Given the description of an element on the screen output the (x, y) to click on. 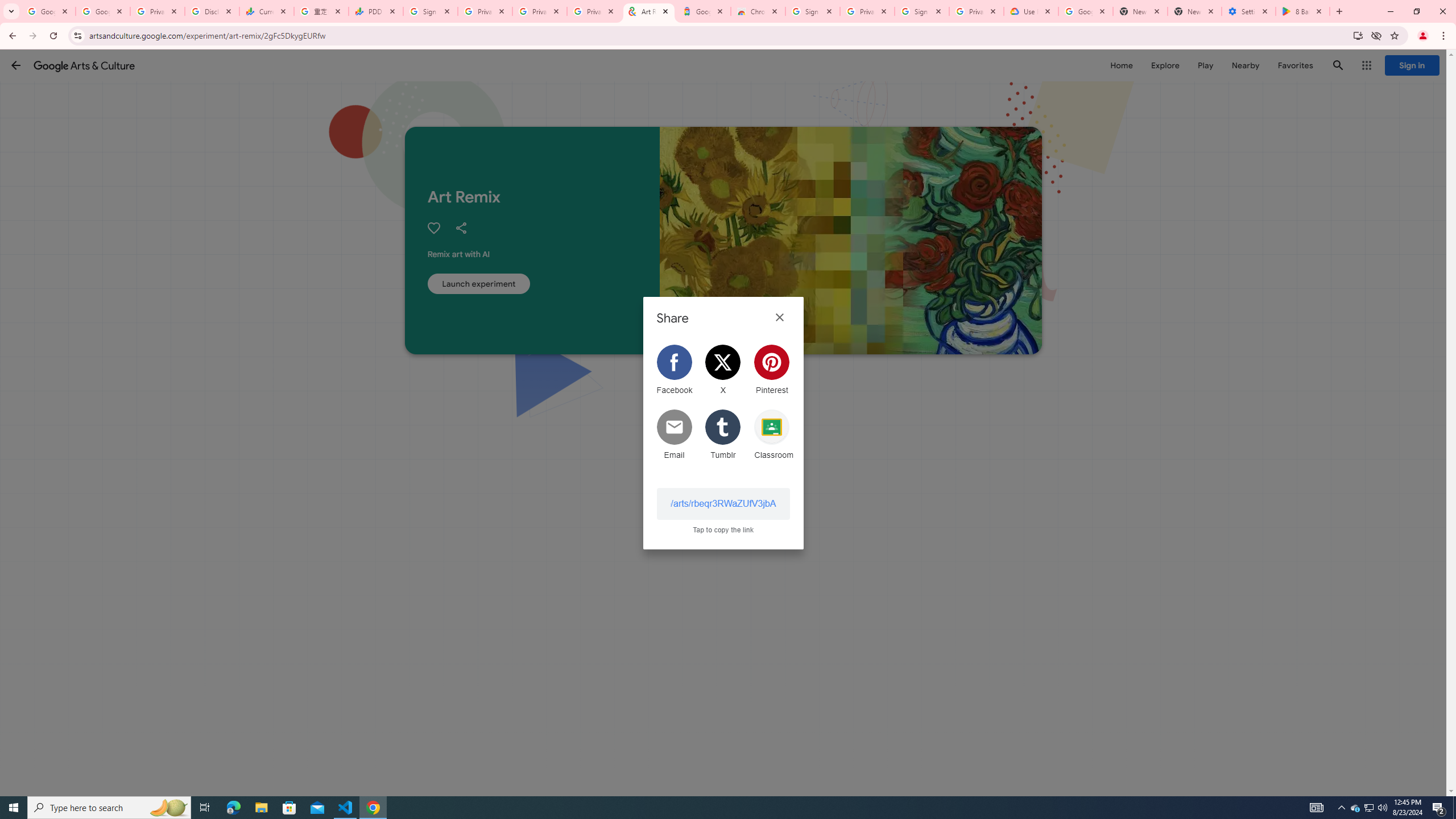
8 Ball Pool - Apps on Google Play (1303, 11)
Google (703, 11)
Privacy Checkup (594, 11)
Share on Twitter (722, 369)
Currencies - Google Finance (266, 11)
New Tab (1194, 11)
